Given the description of an element on the screen output the (x, y) to click on. 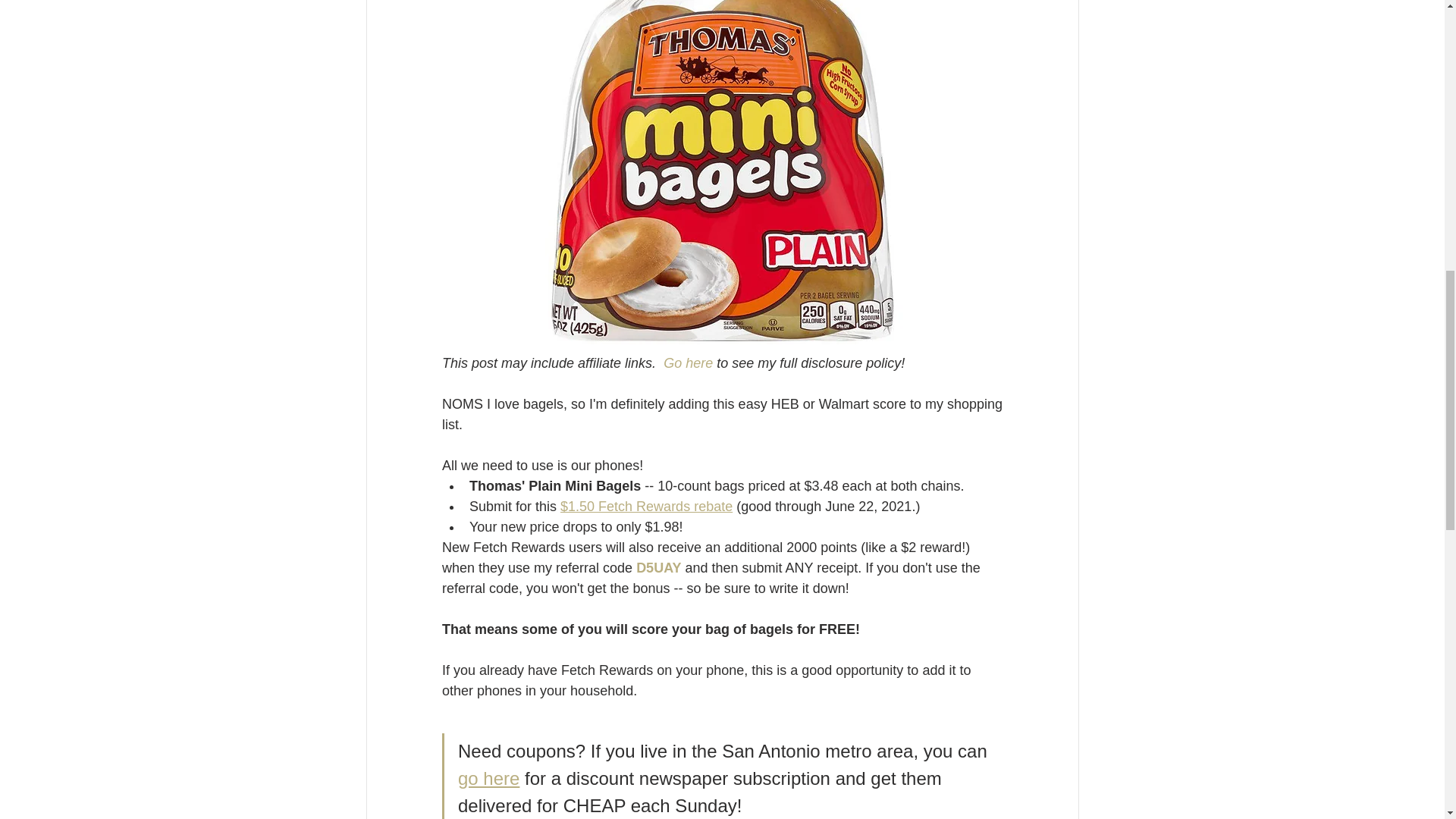
D5UAY (658, 567)
go here (488, 778)
Go here (688, 363)
